Given the description of an element on the screen output the (x, y) to click on. 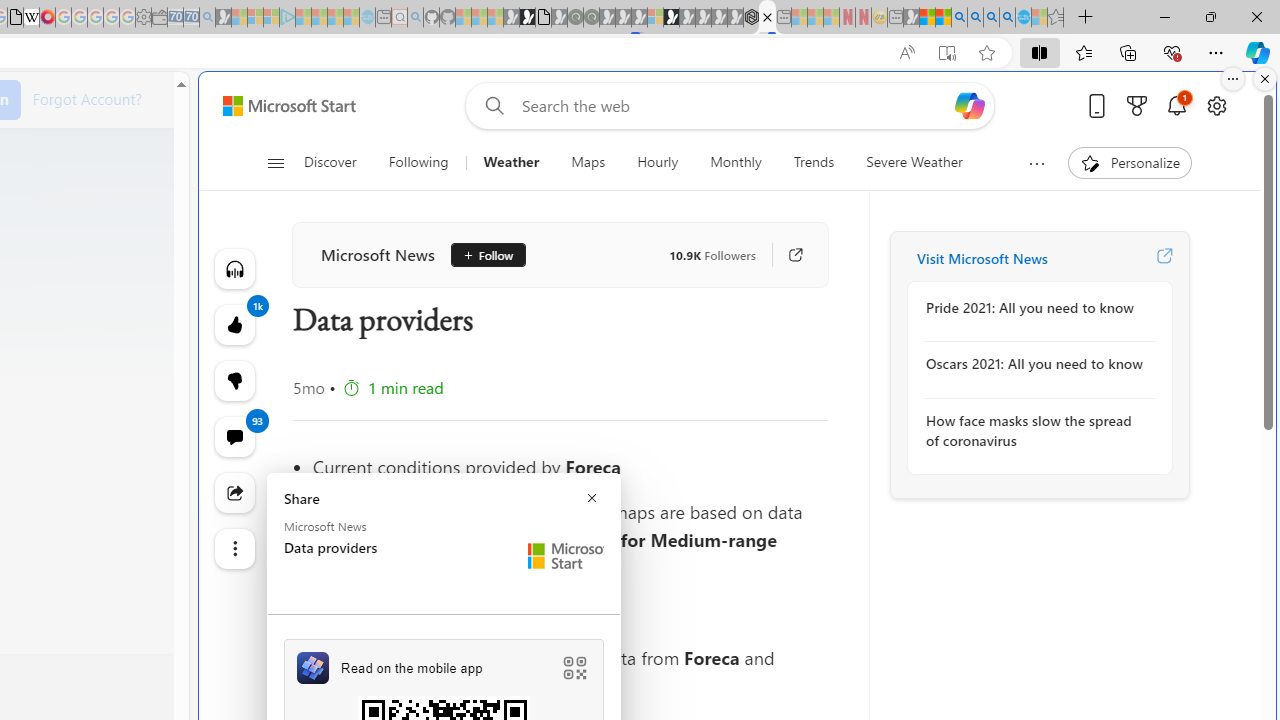
Monthly (735, 162)
Severe Weather (914, 162)
Maps (588, 162)
Nordace - Cooler Bags (751, 17)
1k (234, 380)
